Given the description of an element on the screen output the (x, y) to click on. 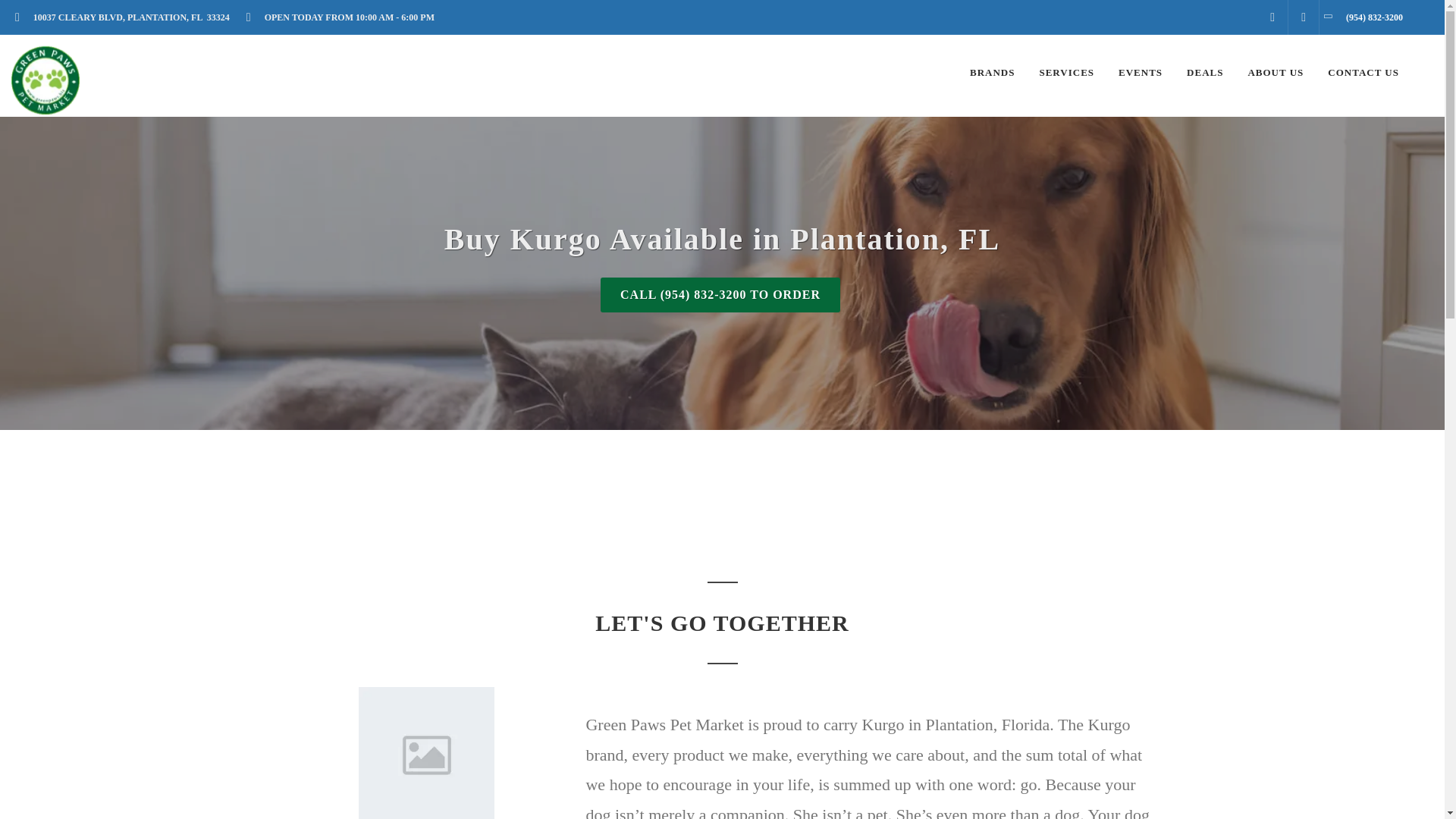
Green Paws Pet Market Brands Near Plantation (992, 72)
Green Paws Pet Market Contact Us Near Plantation (1363, 72)
SERVICES (1066, 72)
Green Paws Pet Market Services Near Plantation (1066, 72)
Buy Kurgo in Plantation, FL from Green Paws Pet Market (426, 753)
10037 CLEARY BLVD, PLANTATION, FL  33324 (127, 16)
CONTACT US (1363, 72)
ABOUT US (1275, 72)
Green Paws Pet Market About Us Near Plantation (1275, 72)
OPEN TODAY FROM 10:00 AM - 6:00 PM (344, 16)
BRANDS (992, 72)
